Given the description of an element on the screen output the (x, y) to click on. 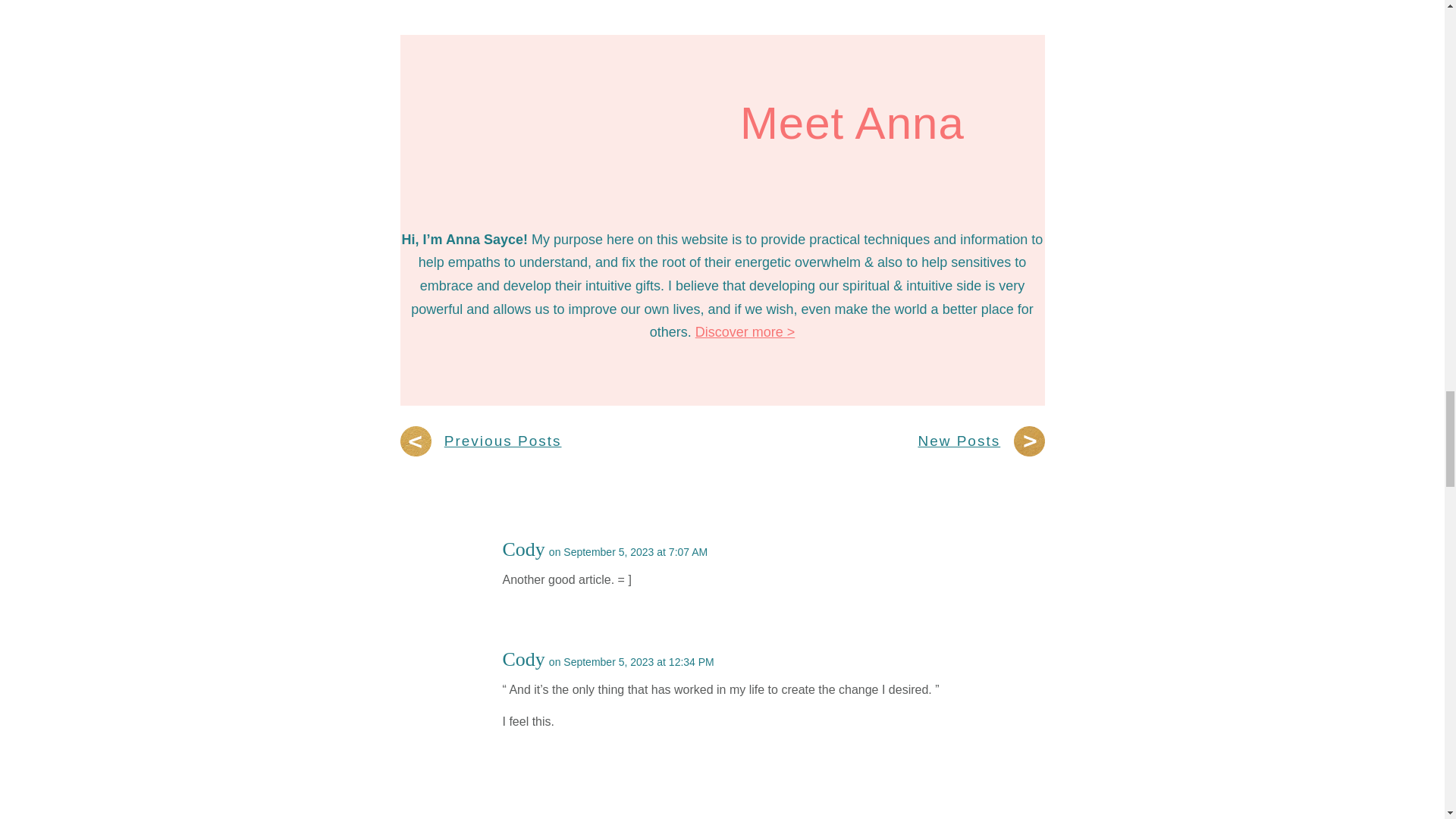
About Anna (744, 331)
